Given the description of an element on the screen output the (x, y) to click on. 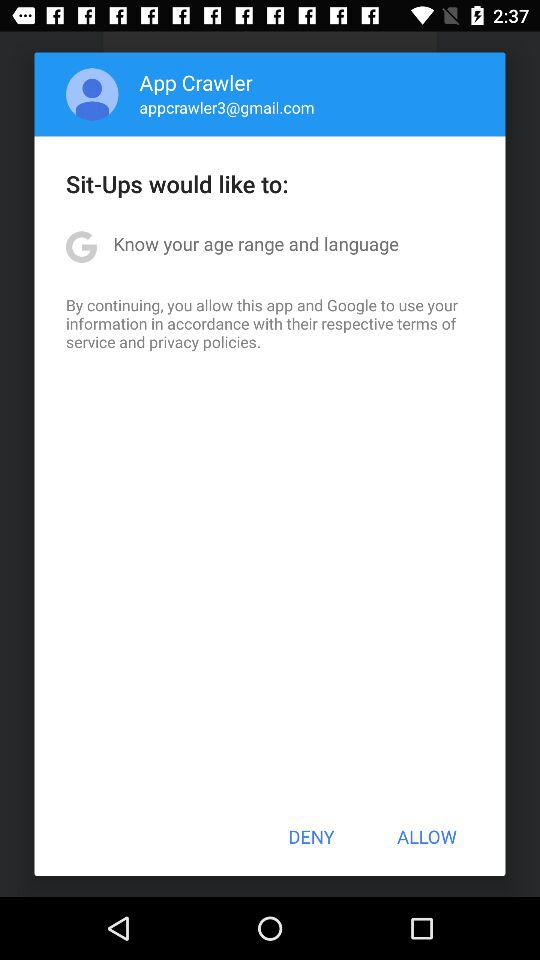
open the icon above appcrawler3@gmail.com item (195, 82)
